Given the description of an element on the screen output the (x, y) to click on. 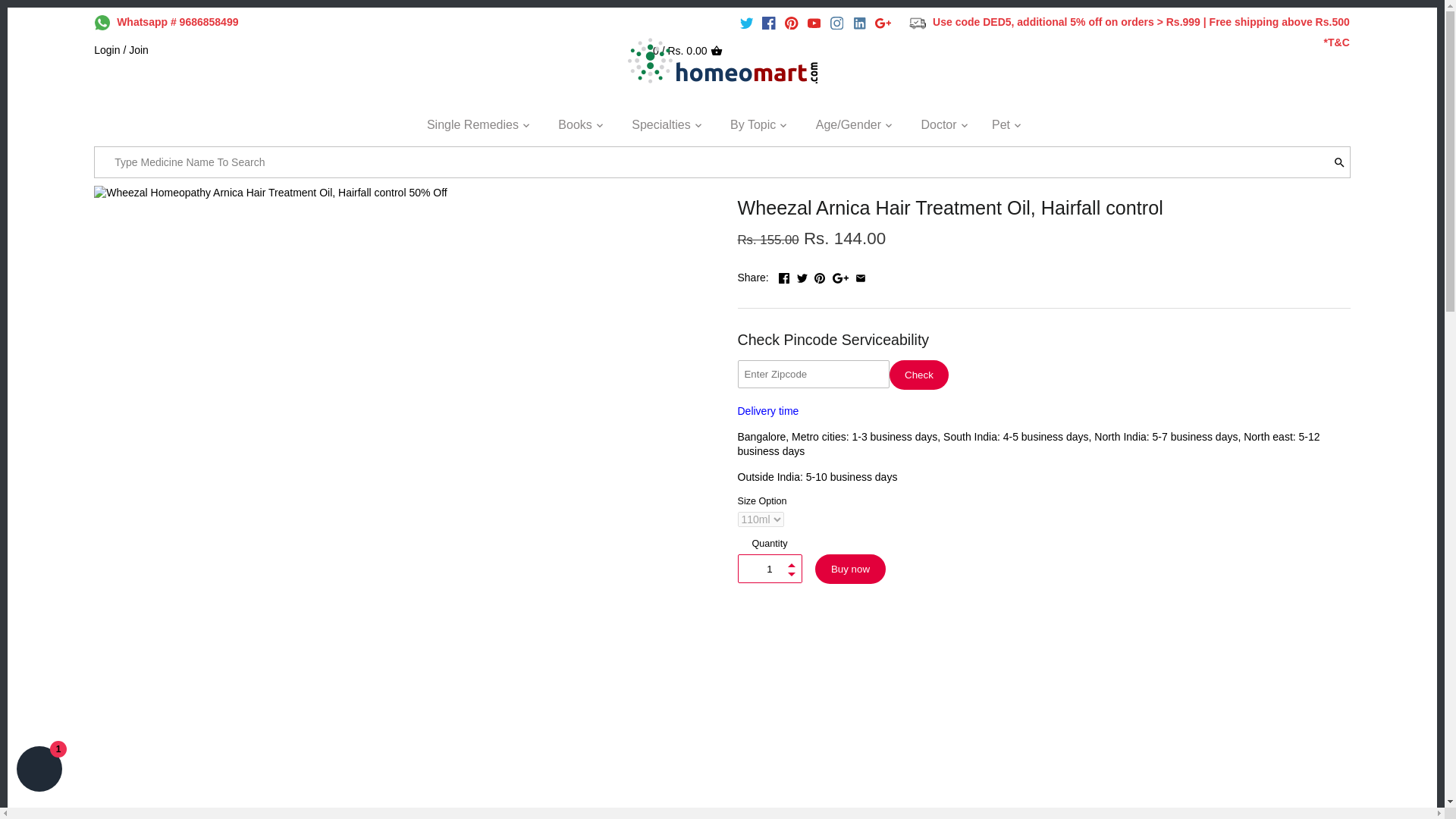
Youtube (814, 22)
Instagram (836, 22)
Facebook (768, 22)
Instagram (836, 23)
Pinterest (819, 277)
Facebook (783, 277)
Facebook (768, 23)
Youtube (814, 22)
Pinterest (790, 22)
Youtube (814, 23)
GooglePlus (883, 22)
Pinterest (790, 22)
Login (106, 50)
Twitter (802, 277)
Search (1339, 162)
